Given the description of an element on the screen output the (x, y) to click on. 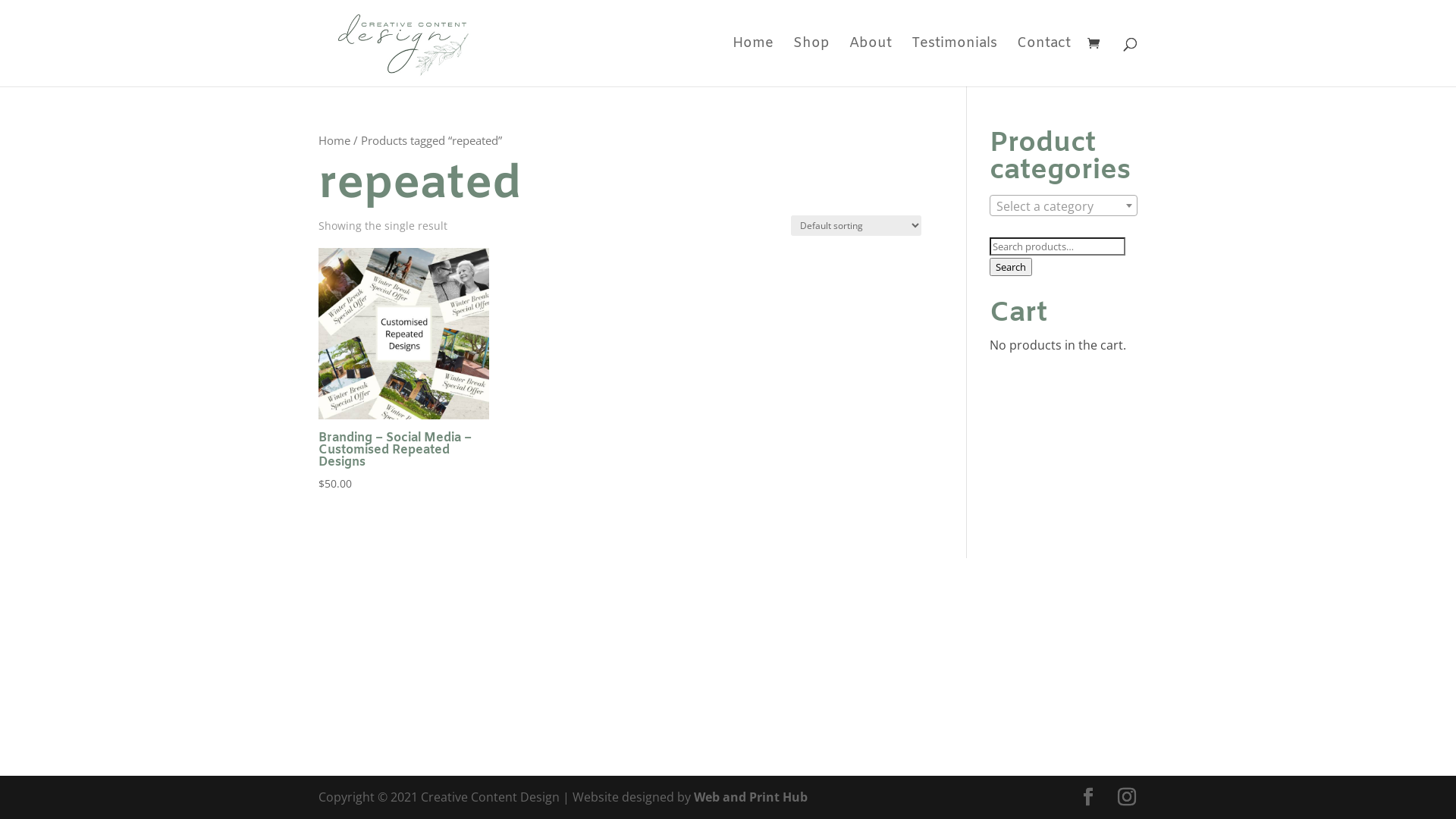
Web and Print Hub Element type: text (750, 796)
Home Element type: text (752, 61)
Contact Element type: text (1043, 61)
About Element type: text (870, 61)
Home Element type: text (334, 139)
Testimonials Element type: text (954, 61)
Search Element type: text (1010, 266)
Shop Element type: text (811, 61)
